Given the description of an element on the screen output the (x, y) to click on. 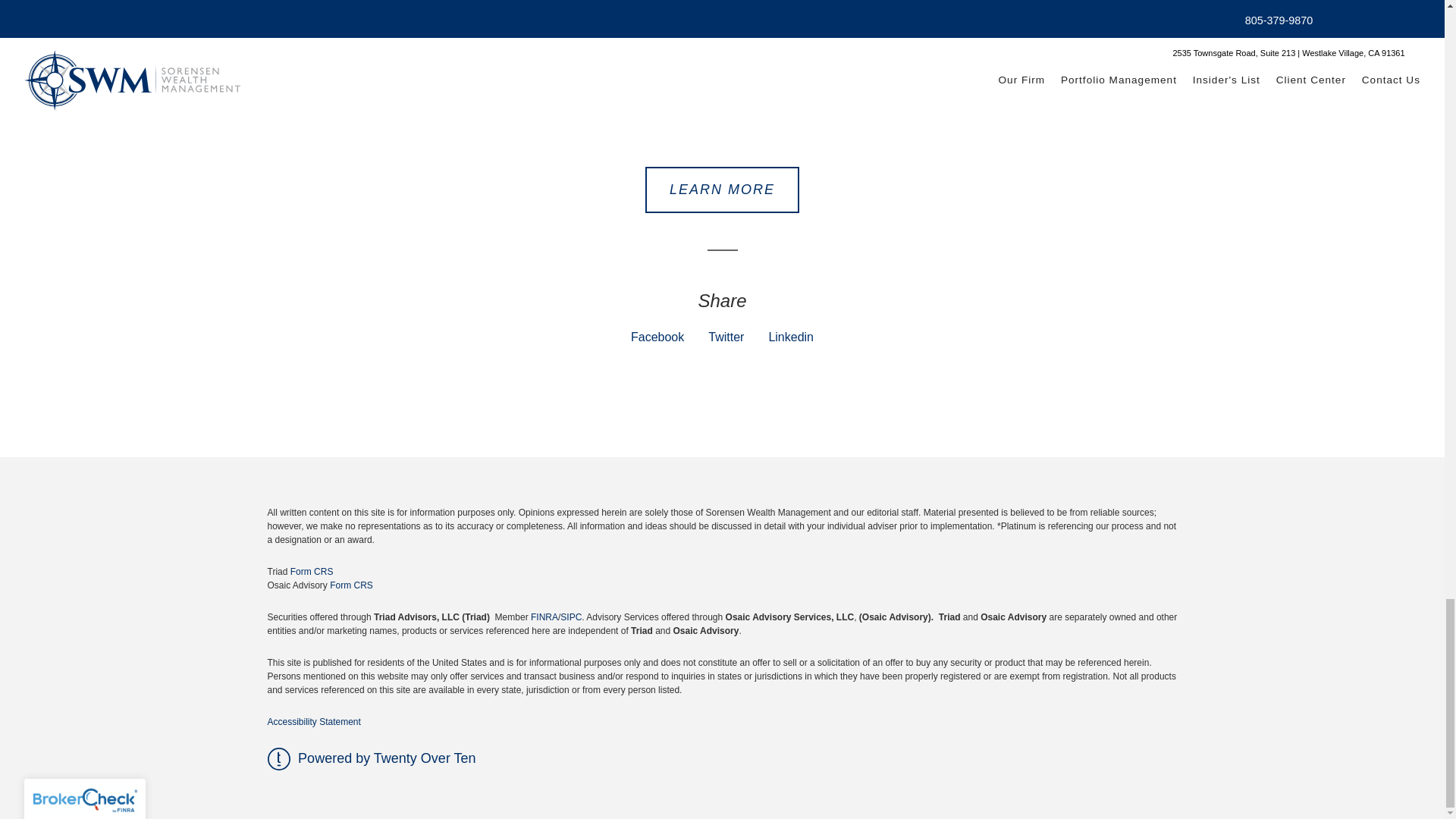
Linkedin (790, 336)
SIPC (570, 616)
LEARN MORE (722, 189)
Accessibility Statement (312, 721)
FINRA (544, 616)
Form CRS (351, 584)
Form CRS (311, 571)
Facebook (657, 336)
We Are Committed To Understanding Your Needs (720, 94)
Powered by Twenty Over Ten (371, 758)
Twitter (725, 336)
